Given the description of an element on the screen output the (x, y) to click on. 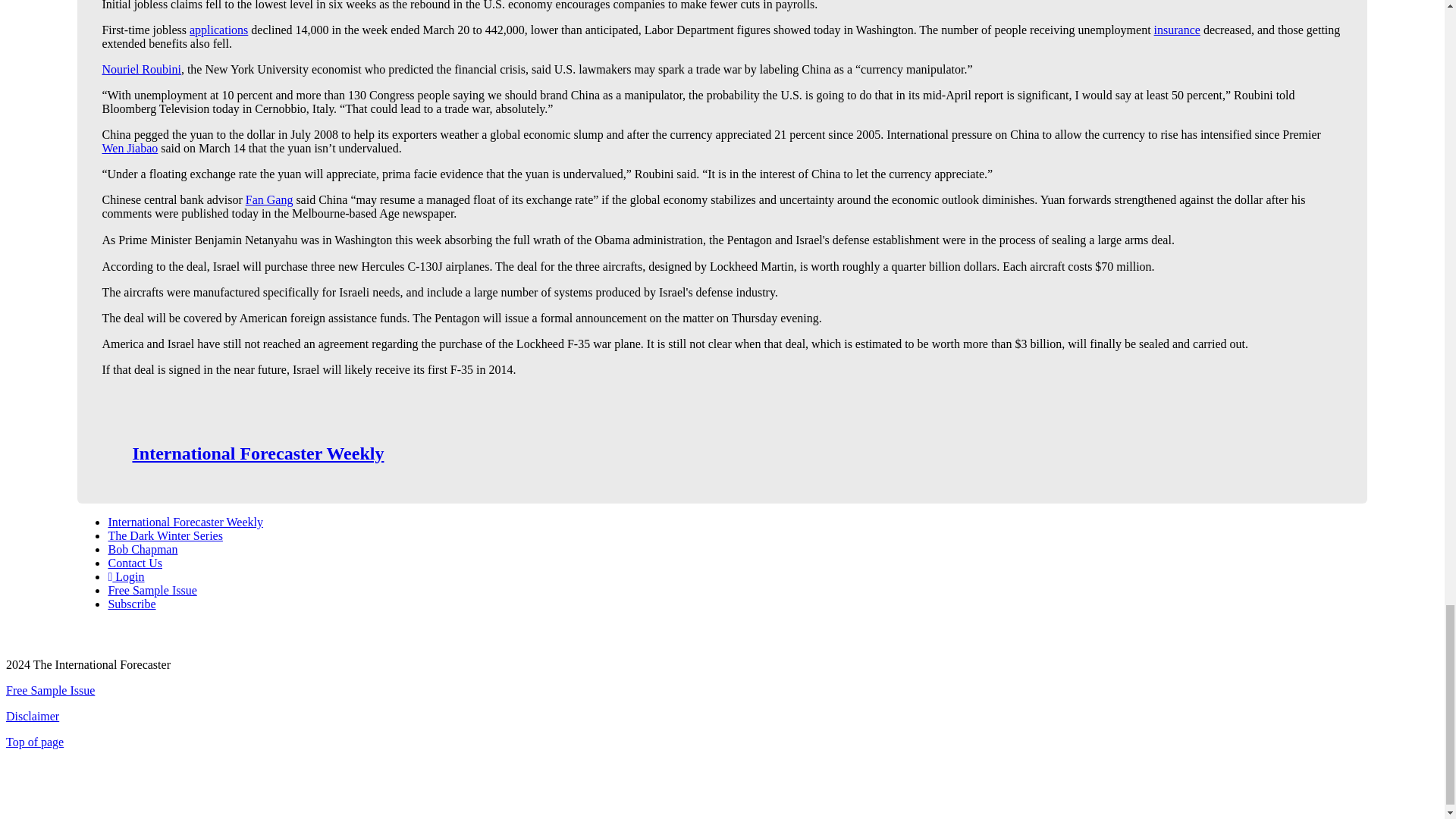
Fan Gang (270, 199)
Subscribe (131, 603)
Free Sample Issue (49, 689)
applications (218, 29)
International Forecaster Weekly (185, 521)
Login (125, 576)
Disclaimer (32, 716)
Top of page (34, 741)
Nouriel Roubini (140, 69)
Disclaimer (32, 716)
Wen Jiabao (129, 147)
insurance (1176, 29)
free sample (151, 590)
International Forecaster Weekly (258, 453)
